Given the description of an element on the screen output the (x, y) to click on. 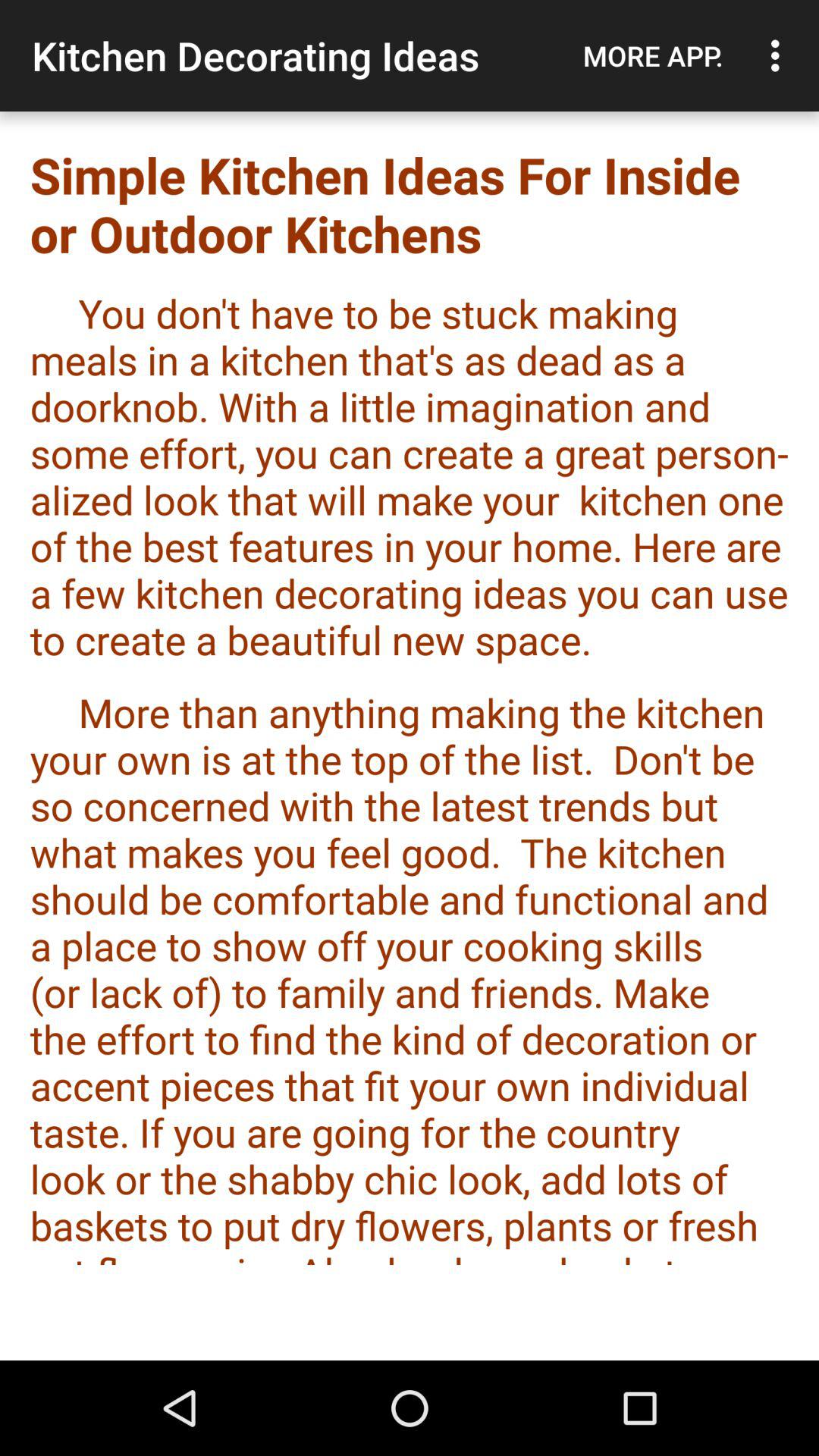
press app above simple kitchen ideas app (653, 55)
